Given the description of an element on the screen output the (x, y) to click on. 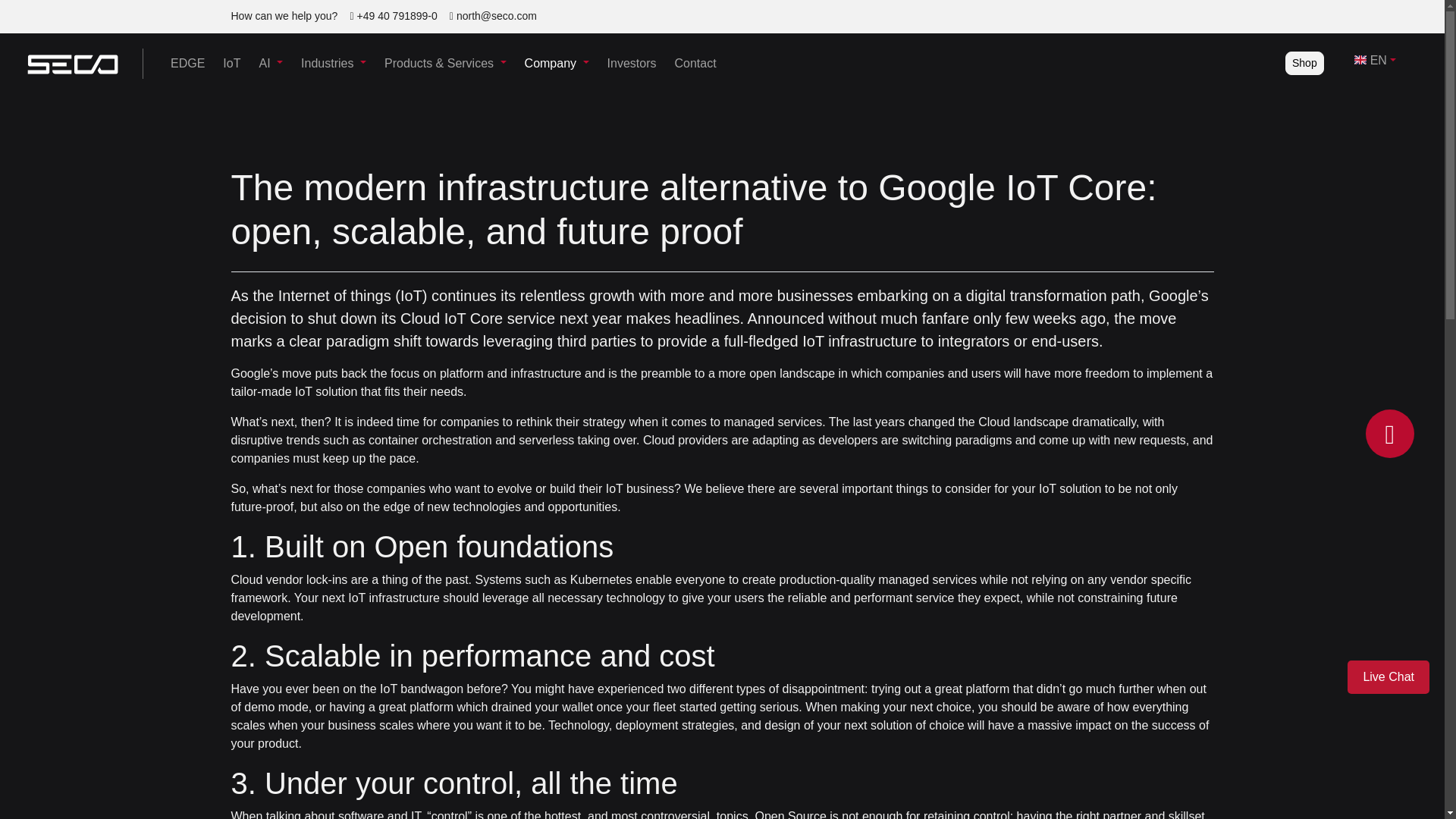
Industries (333, 63)
AI (270, 63)
AI (270, 63)
Industries (333, 63)
Get in touch! (493, 15)
IoT (231, 63)
EDGE (187, 63)
EDGE (187, 63)
IoT (231, 63)
Call us now! (392, 15)
